Given the description of an element on the screen output the (x, y) to click on. 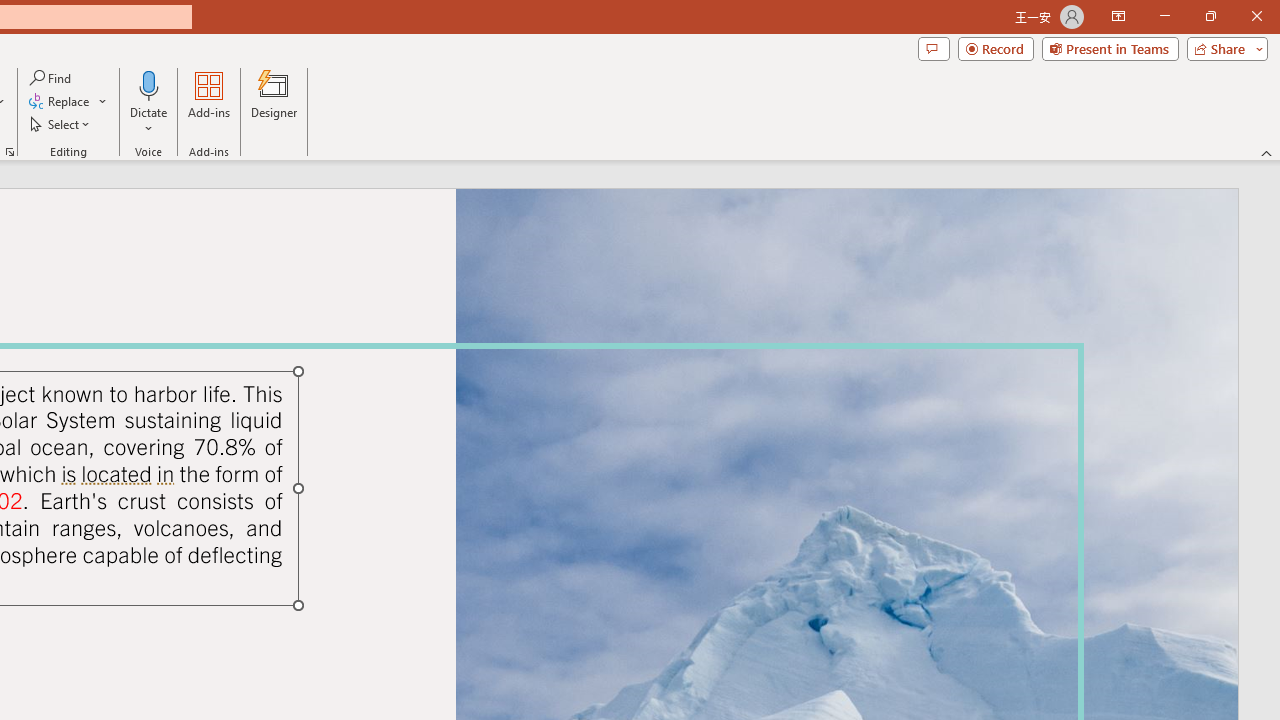
Format Object... (9, 151)
Replace... (60, 101)
